Given the description of an element on the screen output the (x, y) to click on. 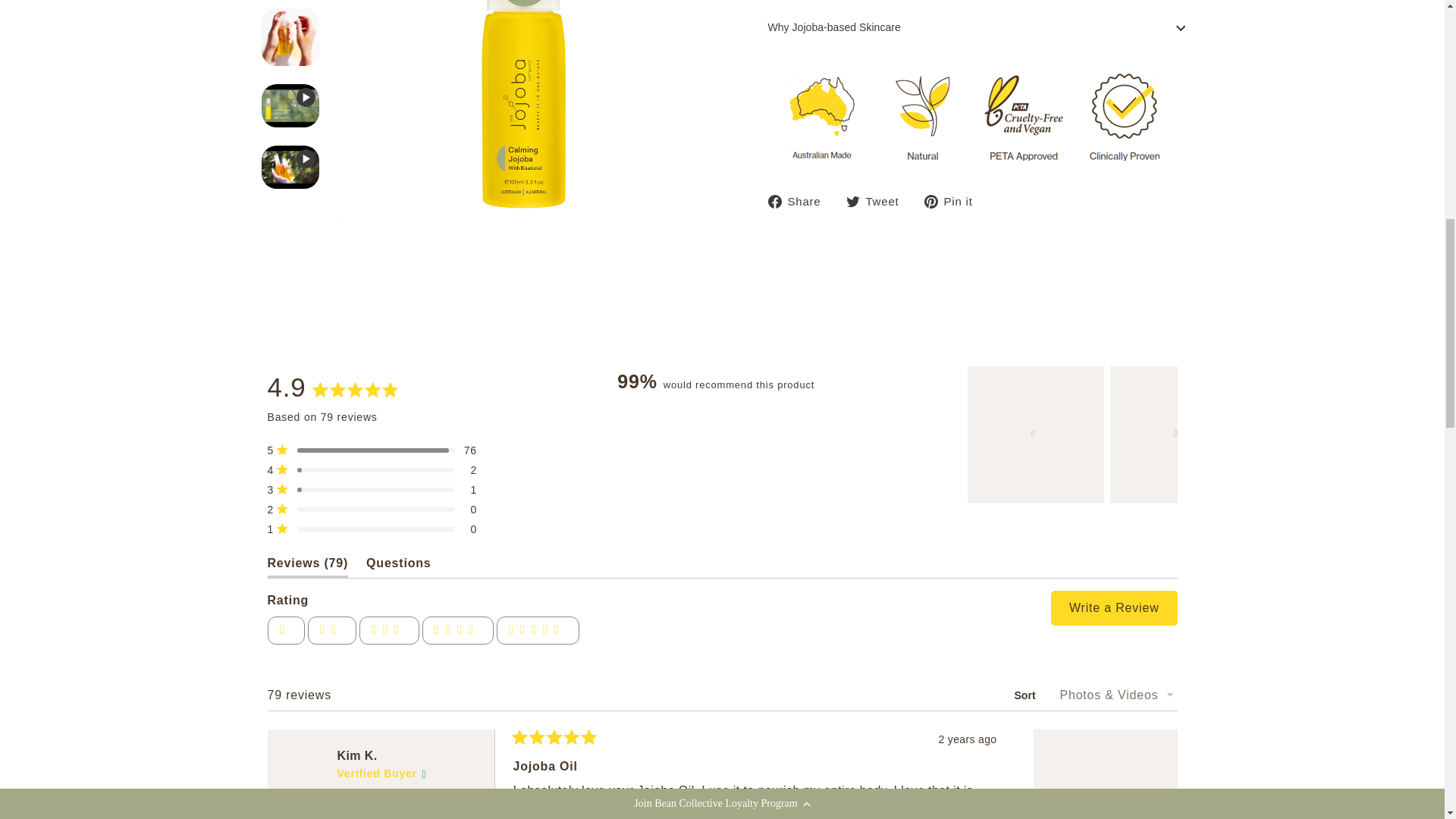
Share on Facebook (799, 200)
Tweet on Twitter (878, 200)
twitter (852, 201)
Pin on Pinterest (953, 200)
